Given the description of an element on the screen output the (x, y) to click on. 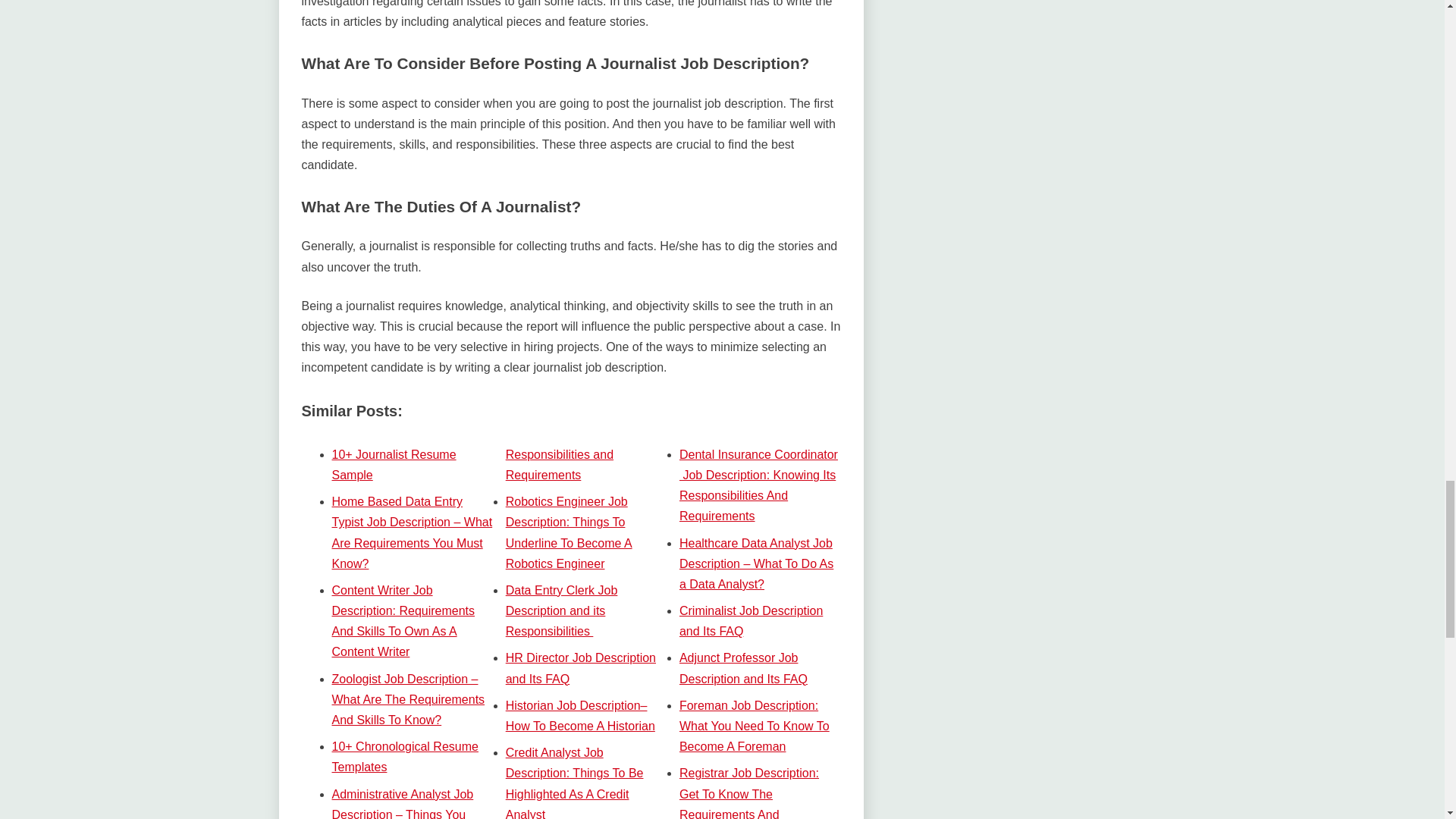
HR Director Job Description and Its FAQ (580, 667)
HR Director Job Description and Its FAQ (580, 667)
Data Entry Clerk Job Description and its Responsibilities  (561, 610)
